Given the description of an element on the screen output the (x, y) to click on. 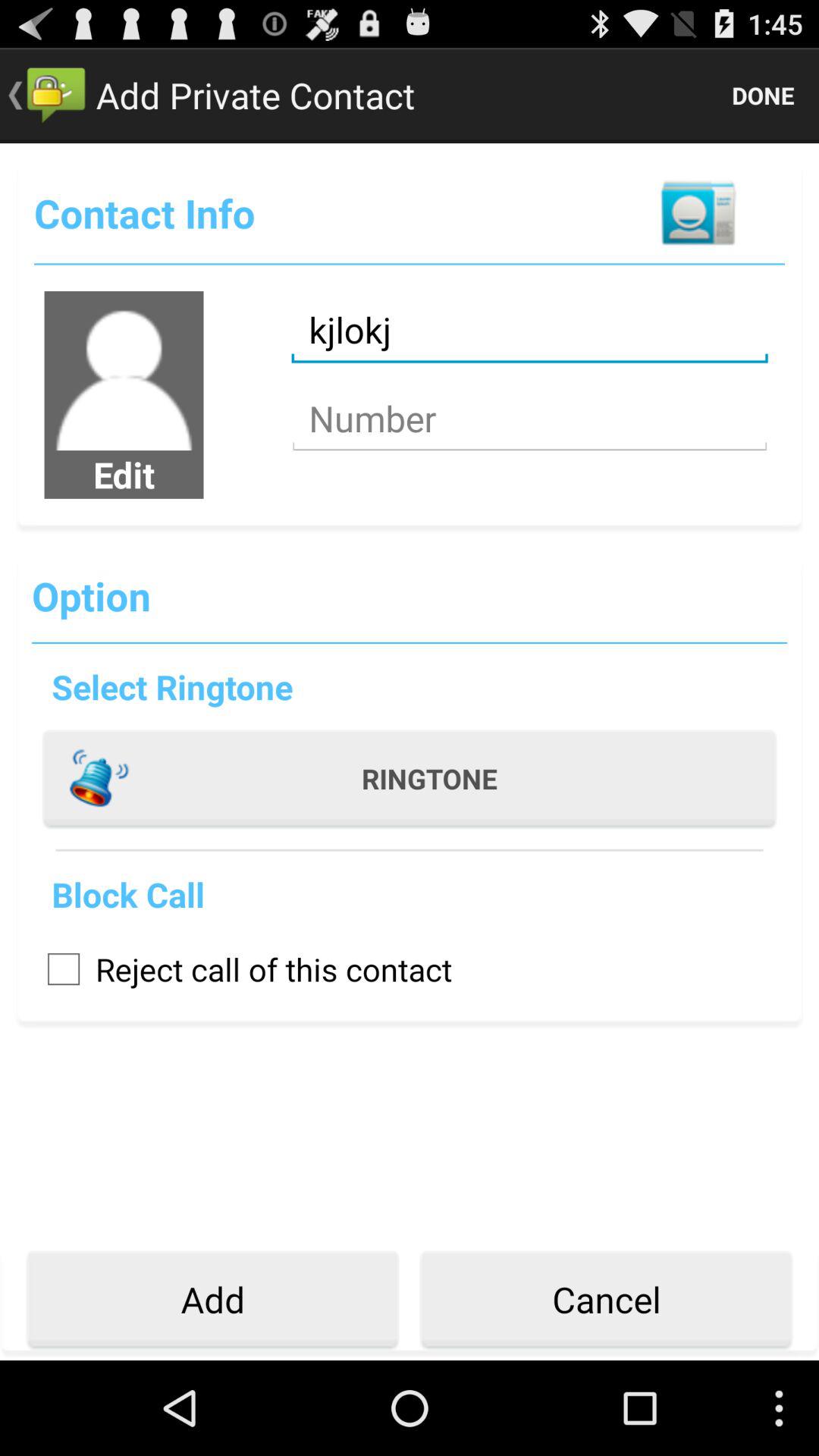
launch the icon next to kjlokj item (123, 370)
